Given the description of an element on the screen output the (x, y) to click on. 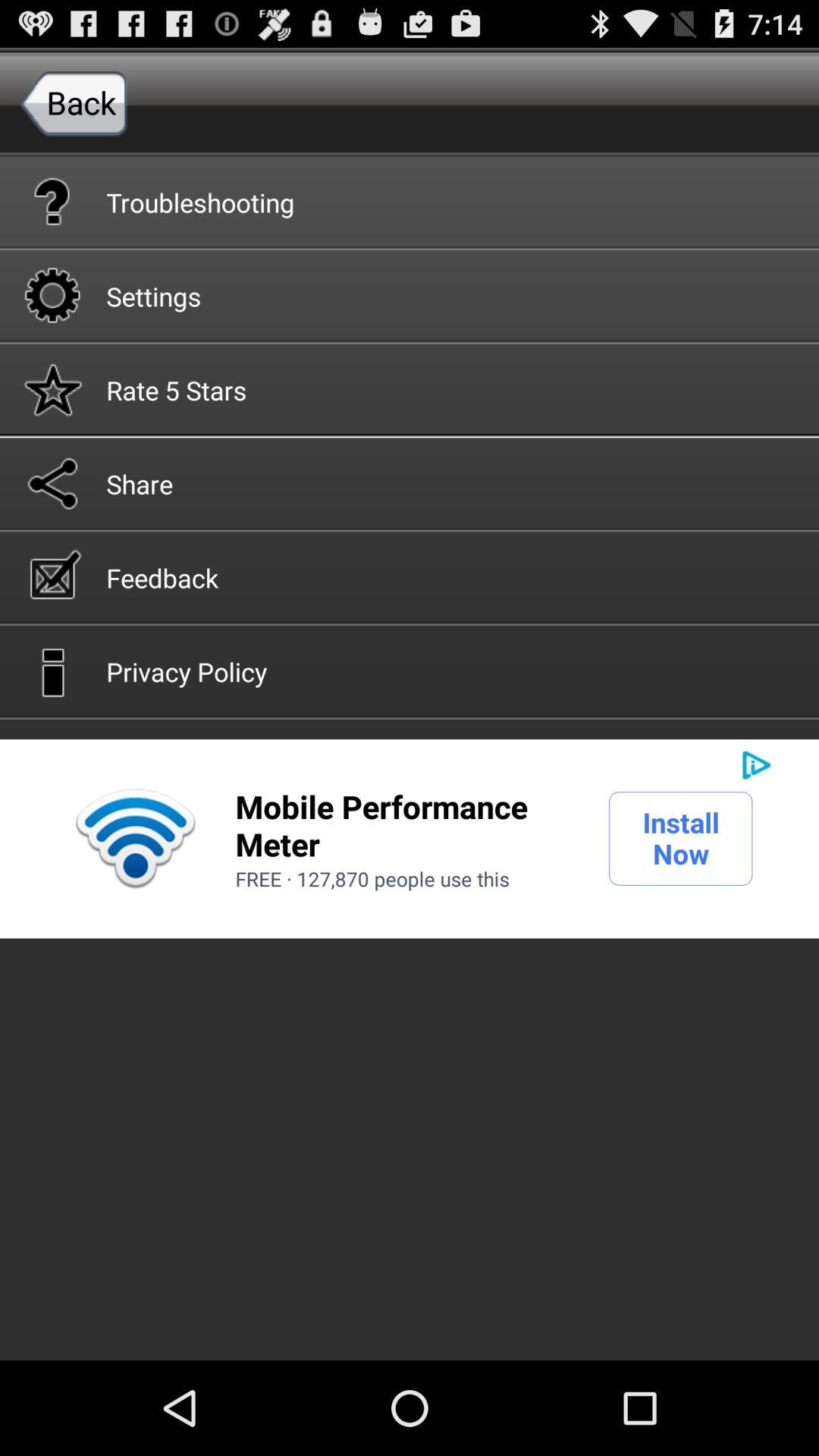
tap icon to the right of mobile performance meter (680, 838)
